Given the description of an element on the screen output the (x, y) to click on. 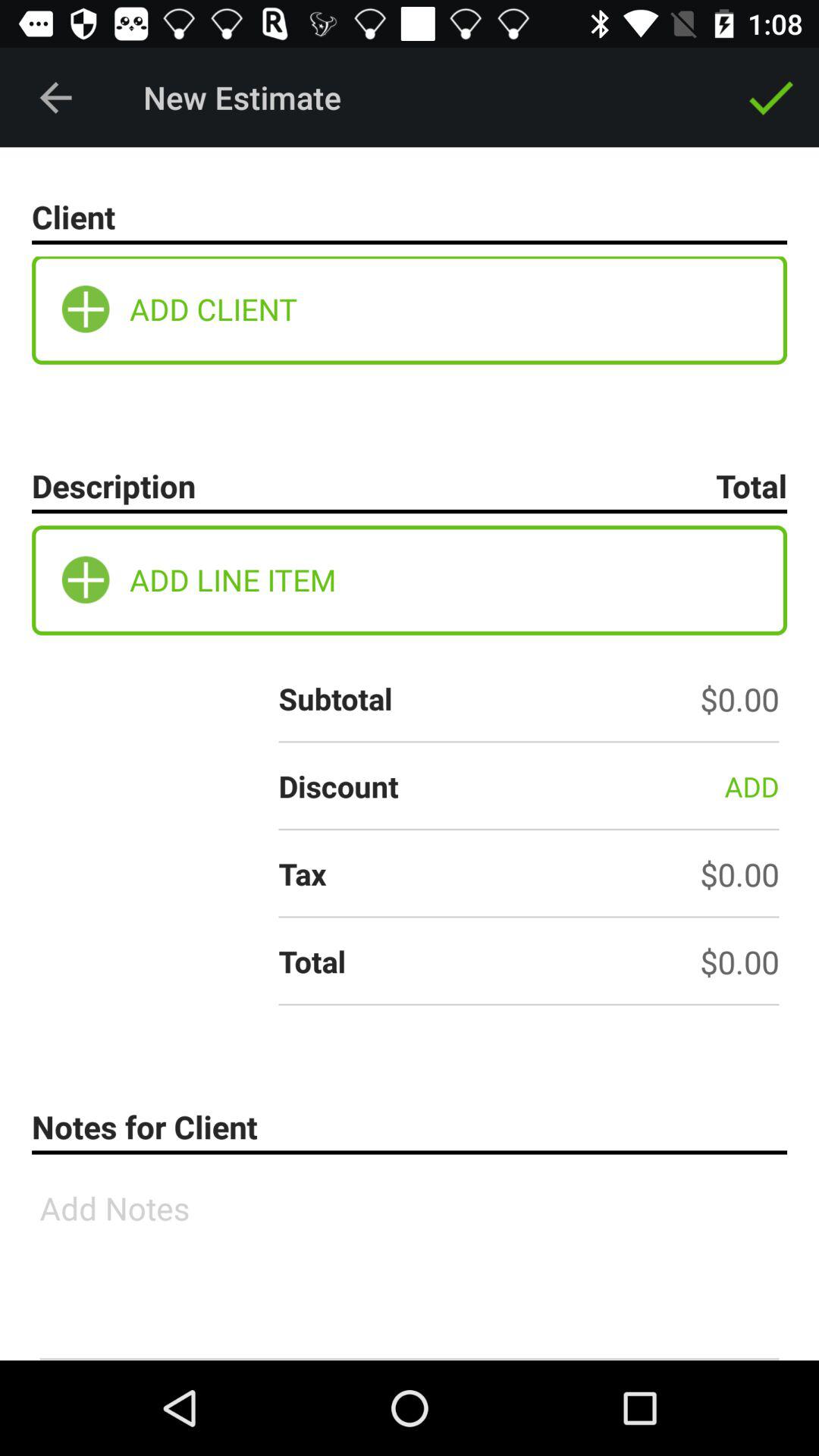
launch the icon to the right of new estimate item (771, 97)
